Given the description of an element on the screen output the (x, y) to click on. 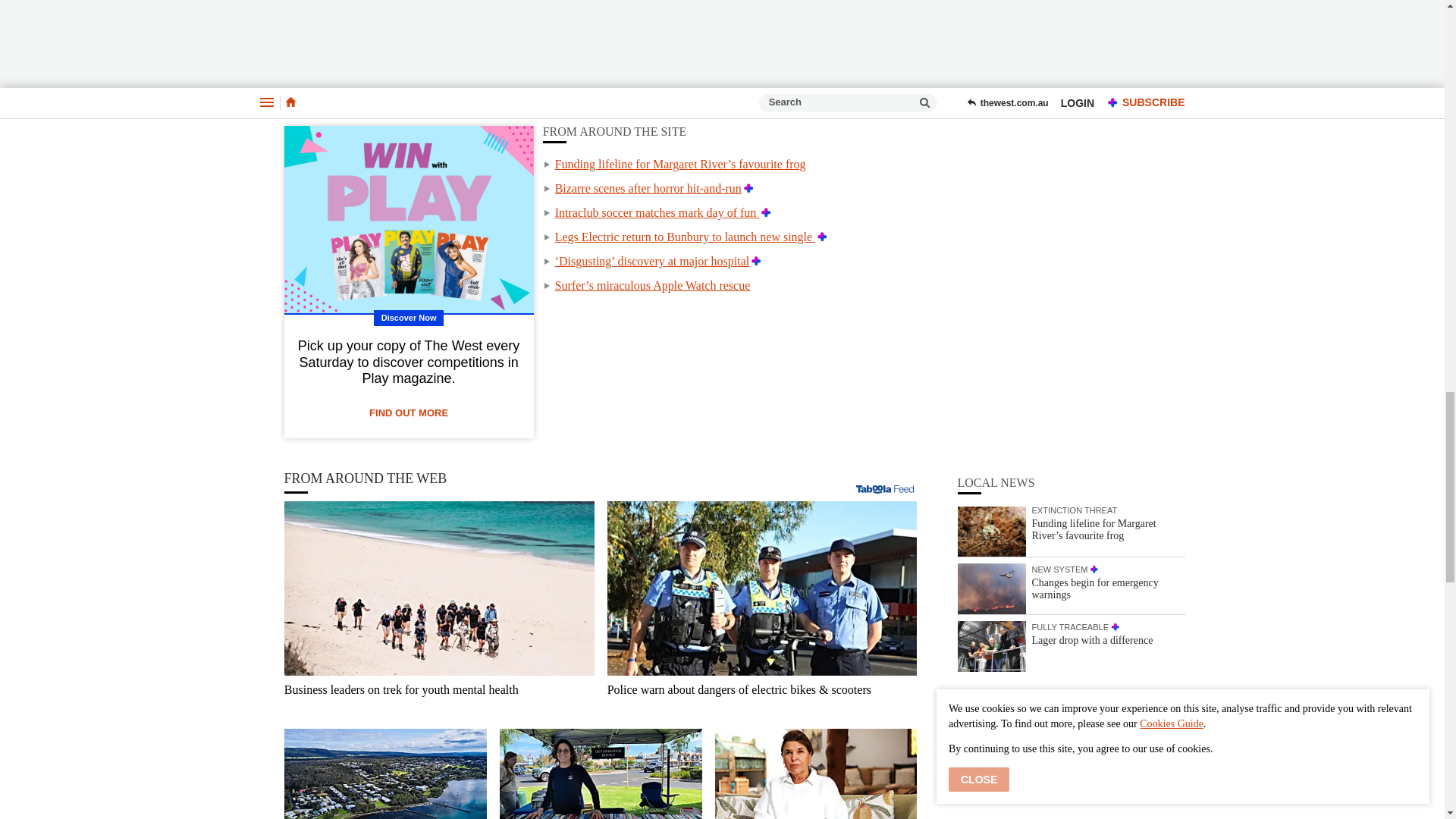
Business leaders on trek for youth mental health (438, 588)
Premium (748, 187)
Stan series Scrubland wants extras for Augusta film shoot (384, 773)
Premium (766, 212)
Reward for return of stolen artworks (815, 773)
Business leaders on trek for youth mental health (438, 696)
Books boss Carmen Grau seeking votes for seed funding (600, 773)
